Given the description of an element on the screen output the (x, y) to click on. 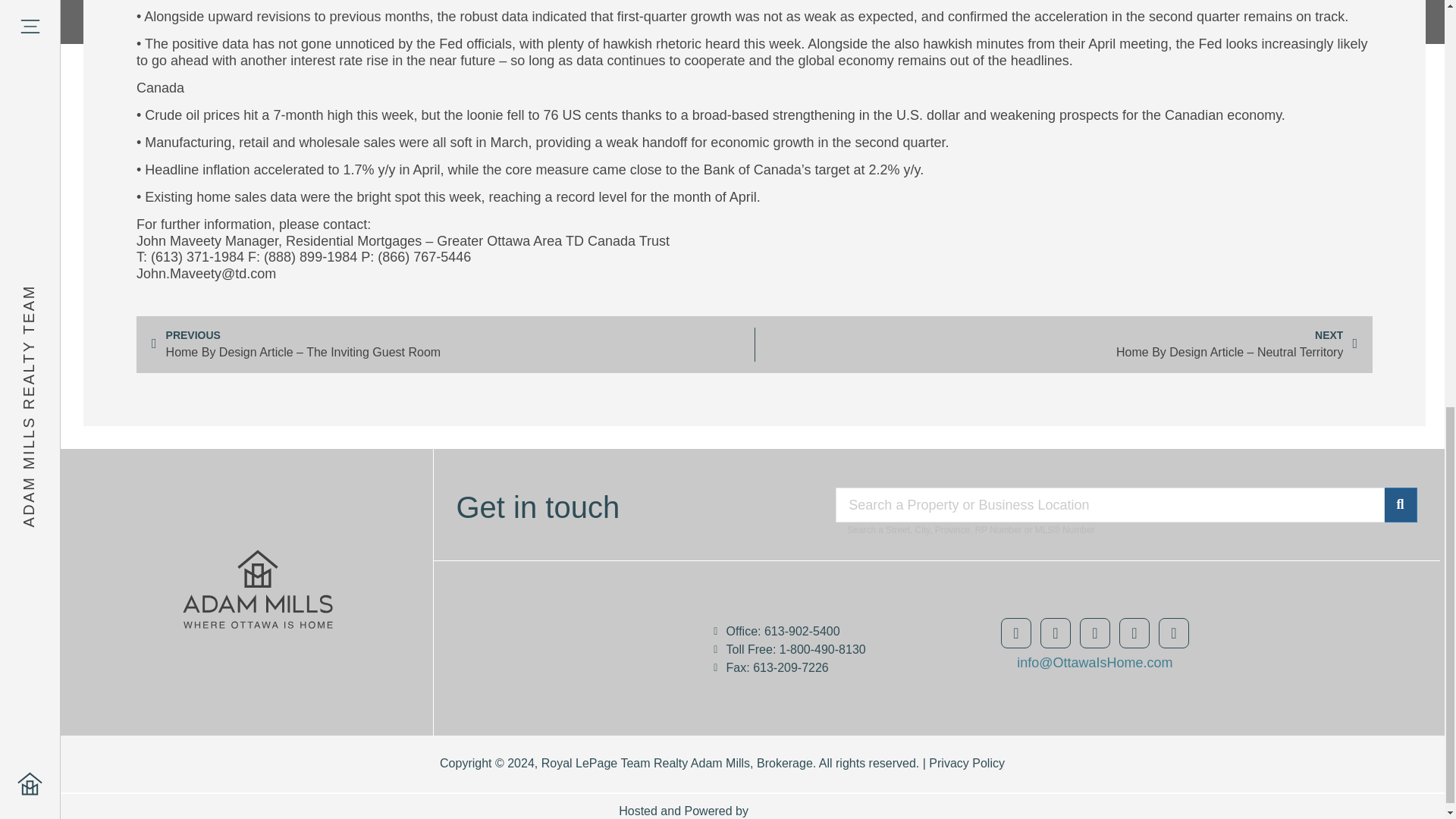
Fax: 613-209-7226 (822, 667)
Toll Free: 1-800-490-8130 (822, 649)
Office: 613-902-5400 (822, 631)
Adam Mills Realty Team (586, 641)
